Given the description of an element on the screen output the (x, y) to click on. 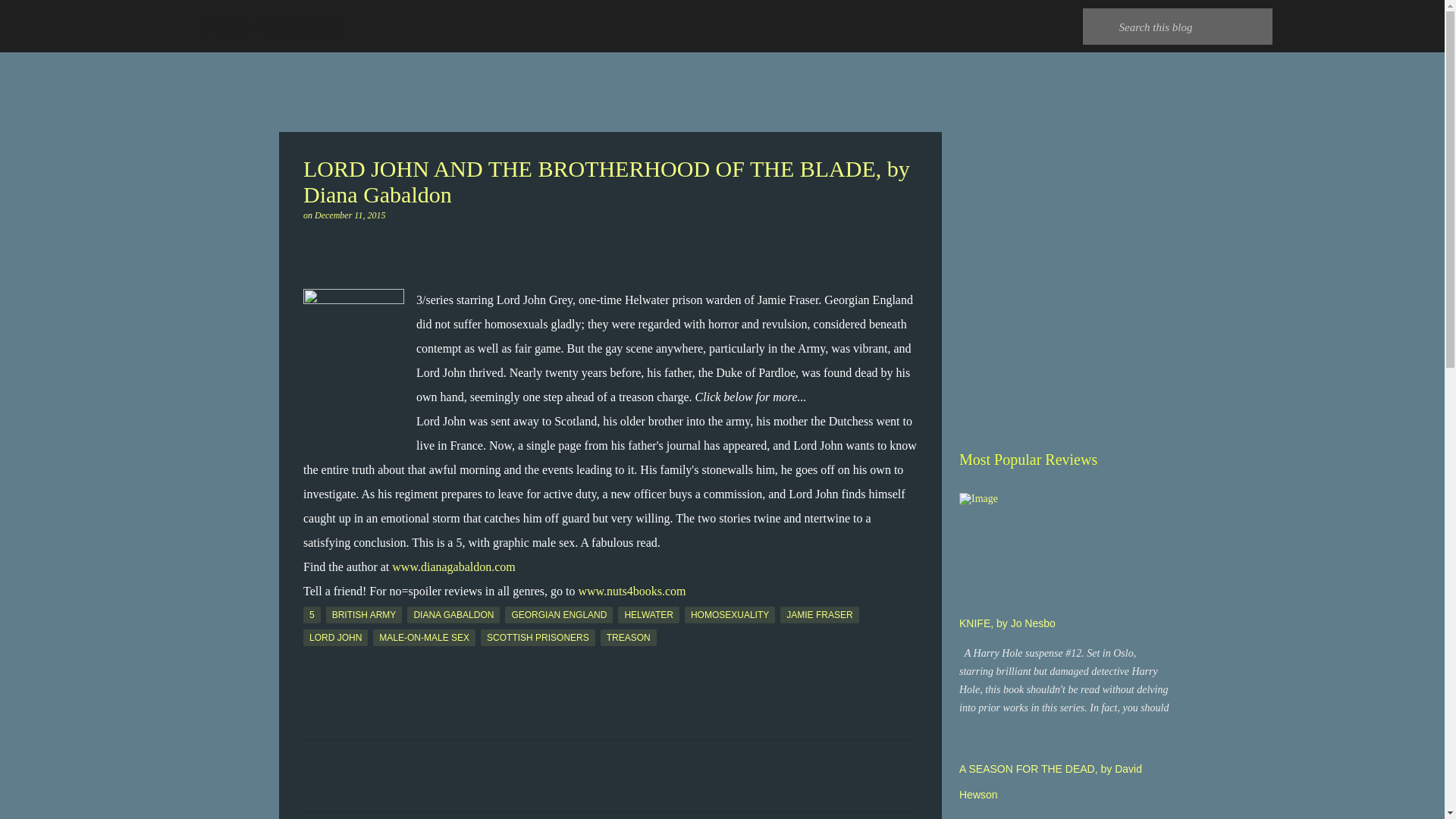
5 (311, 614)
permanent link (349, 214)
KNIFE, by Jo Nesbo (1007, 623)
MALE-ON-MALE SEX (424, 637)
Nuts 4 Books! (273, 25)
A SEASON FOR THE DEAD, by David Hewson (1050, 781)
HELWATER (647, 614)
HOMOSEXUALITY (729, 614)
TREASON (627, 637)
DIANA GABALDON (453, 614)
www.dianagabaldon.com (453, 566)
www.nuts4books.com (631, 590)
December 11, 2015 (349, 214)
SCOTTISH PRISONERS (537, 637)
GEORGIAN ENGLAND (558, 614)
